Given the description of an element on the screen output the (x, y) to click on. 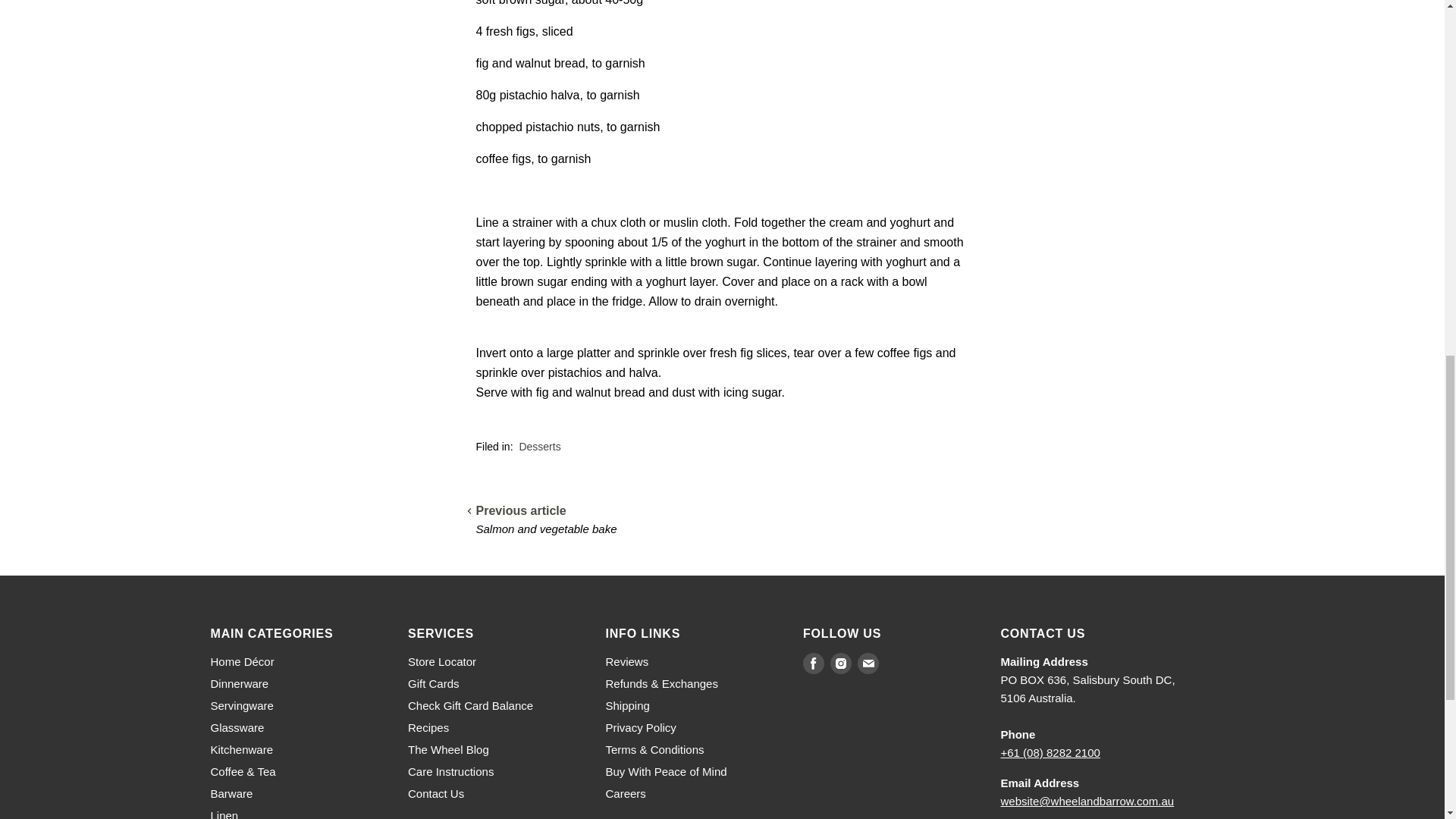
Instagram (840, 663)
Email (868, 663)
Show articles tagged Desserts (539, 446)
tel:0882822100 (1050, 752)
Facebook (813, 663)
